Given the description of an element on the screen output the (x, y) to click on. 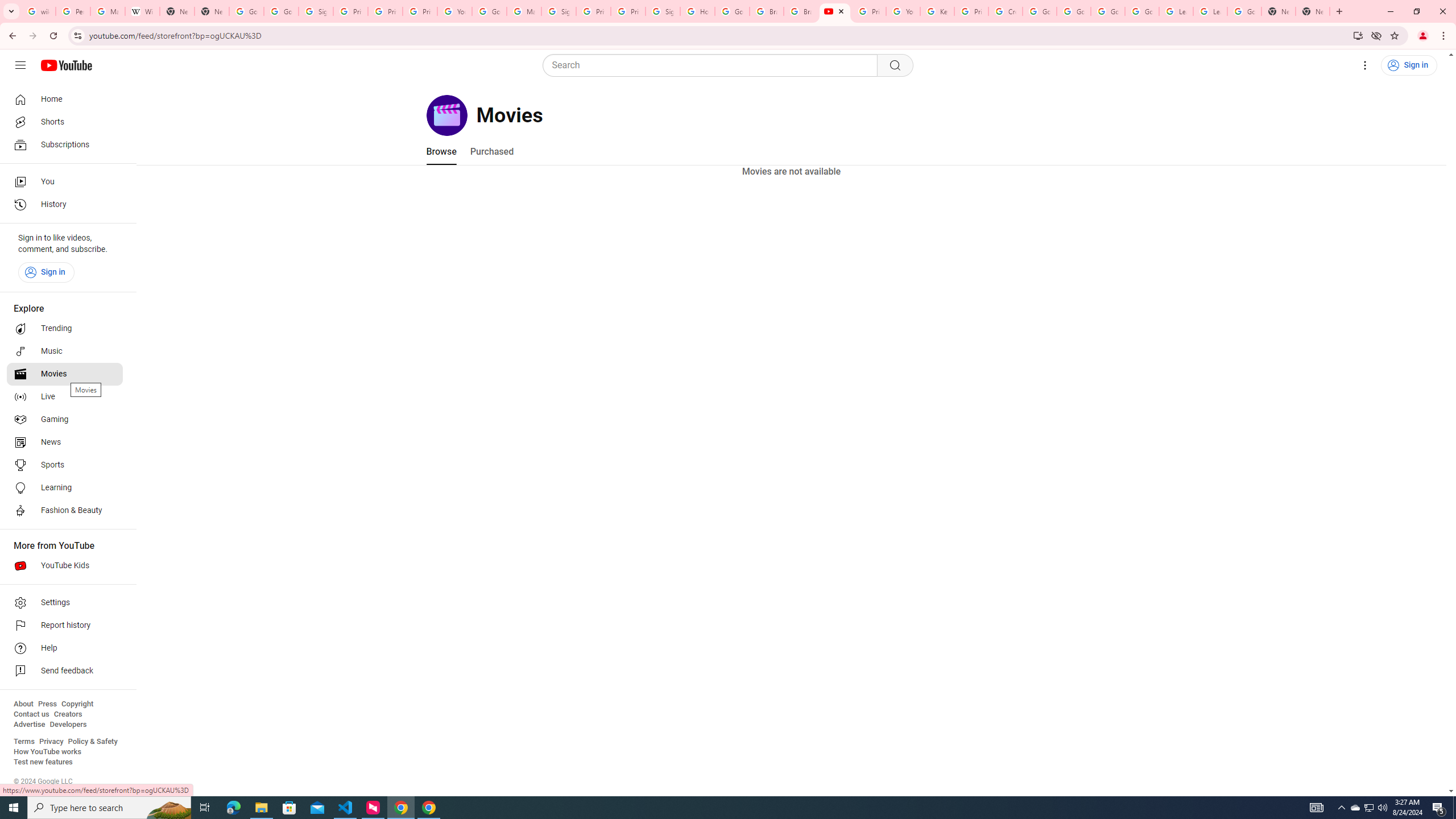
Google Account Help (489, 11)
Create your Google Account (1004, 11)
